Given the description of an element on the screen output the (x, y) to click on. 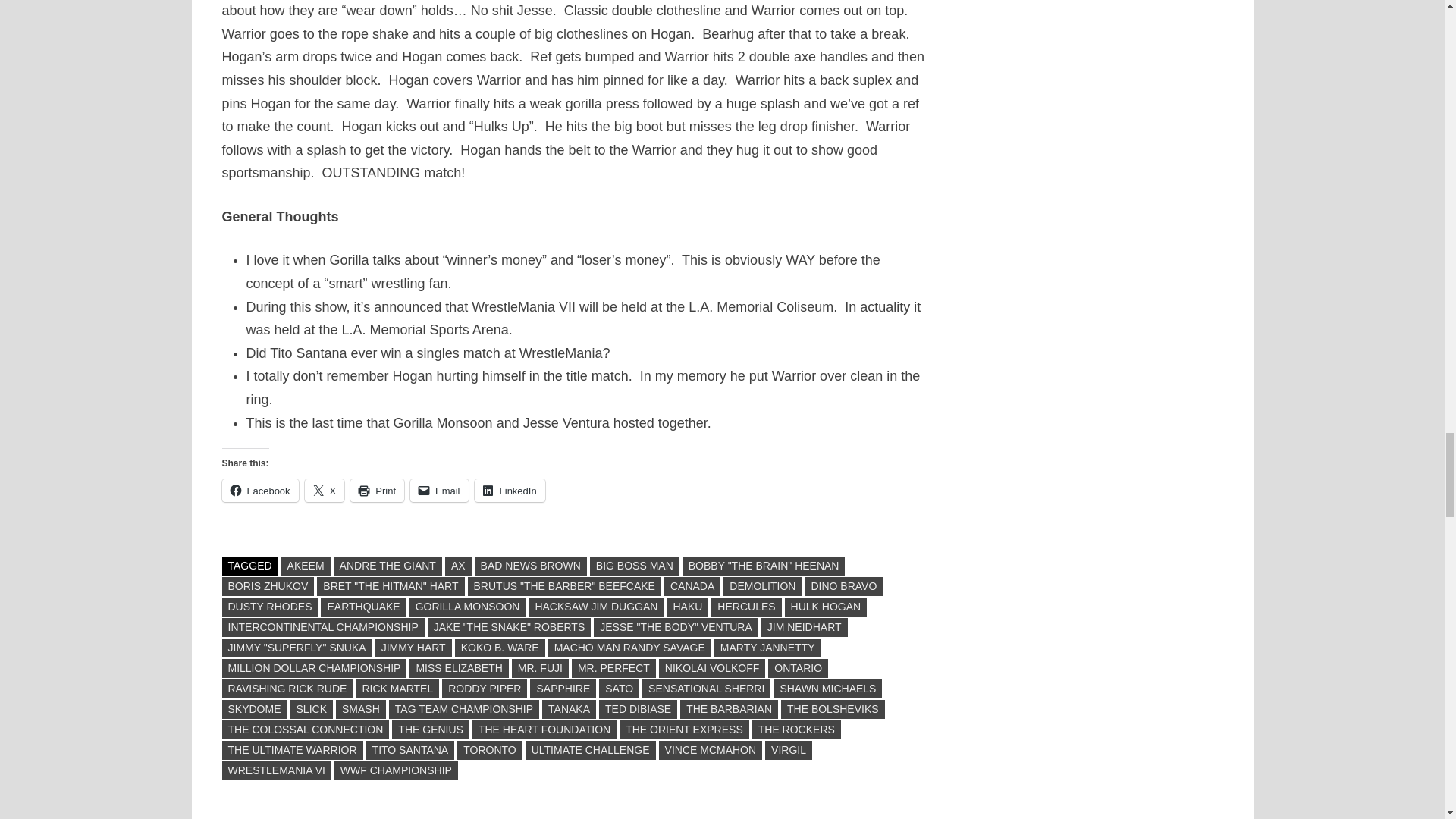
Click to share on X (324, 490)
Click to share on LinkedIn (509, 490)
Click to print (377, 490)
Click to email a link to a friend (439, 490)
Click to share on Facebook (259, 490)
